Given the description of an element on the screen output the (x, y) to click on. 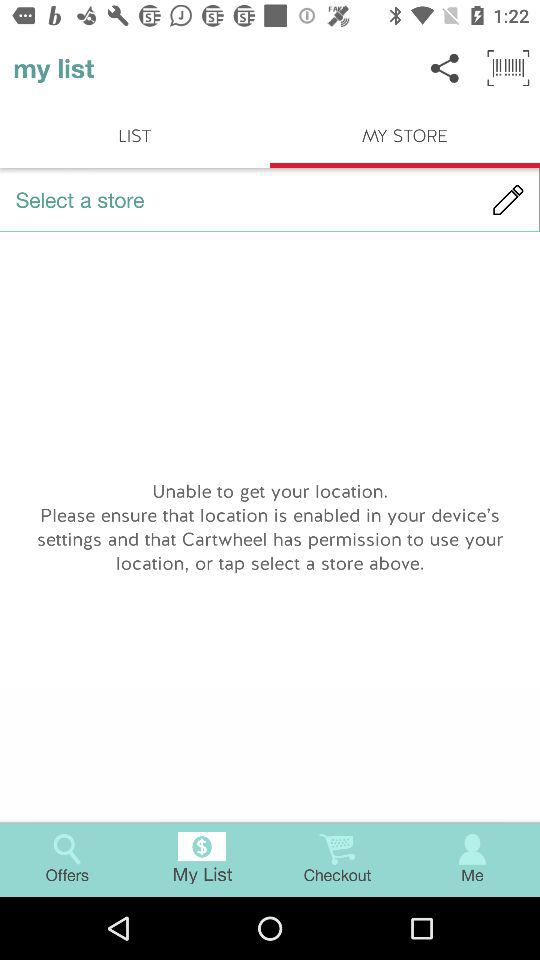
flip until select a store item (270, 199)
